Given the description of an element on the screen output the (x, y) to click on. 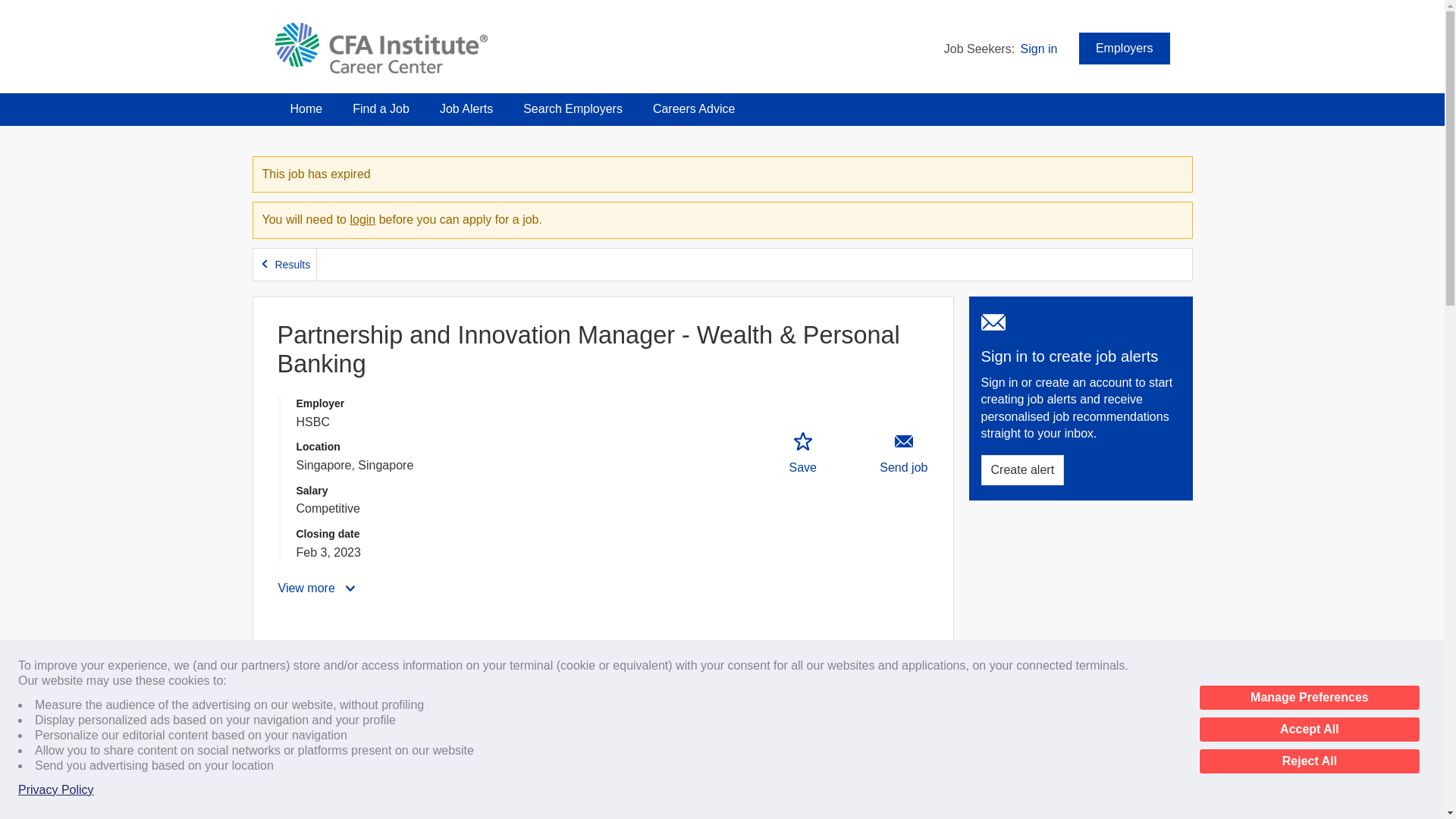
Search Employers (572, 109)
Sign in (1038, 48)
login (362, 219)
Manage Preferences (1309, 697)
Job Alerts (466, 109)
Reject All (1309, 760)
Create alert (1022, 470)
Results (285, 264)
View more (318, 588)
Careers Advice (694, 109)
Accept All (1309, 729)
Privacy Policy (55, 789)
Employers (1124, 48)
Find a Job (381, 109)
CFA Institute Career Center (380, 47)
